Given the description of an element on the screen output the (x, y) to click on. 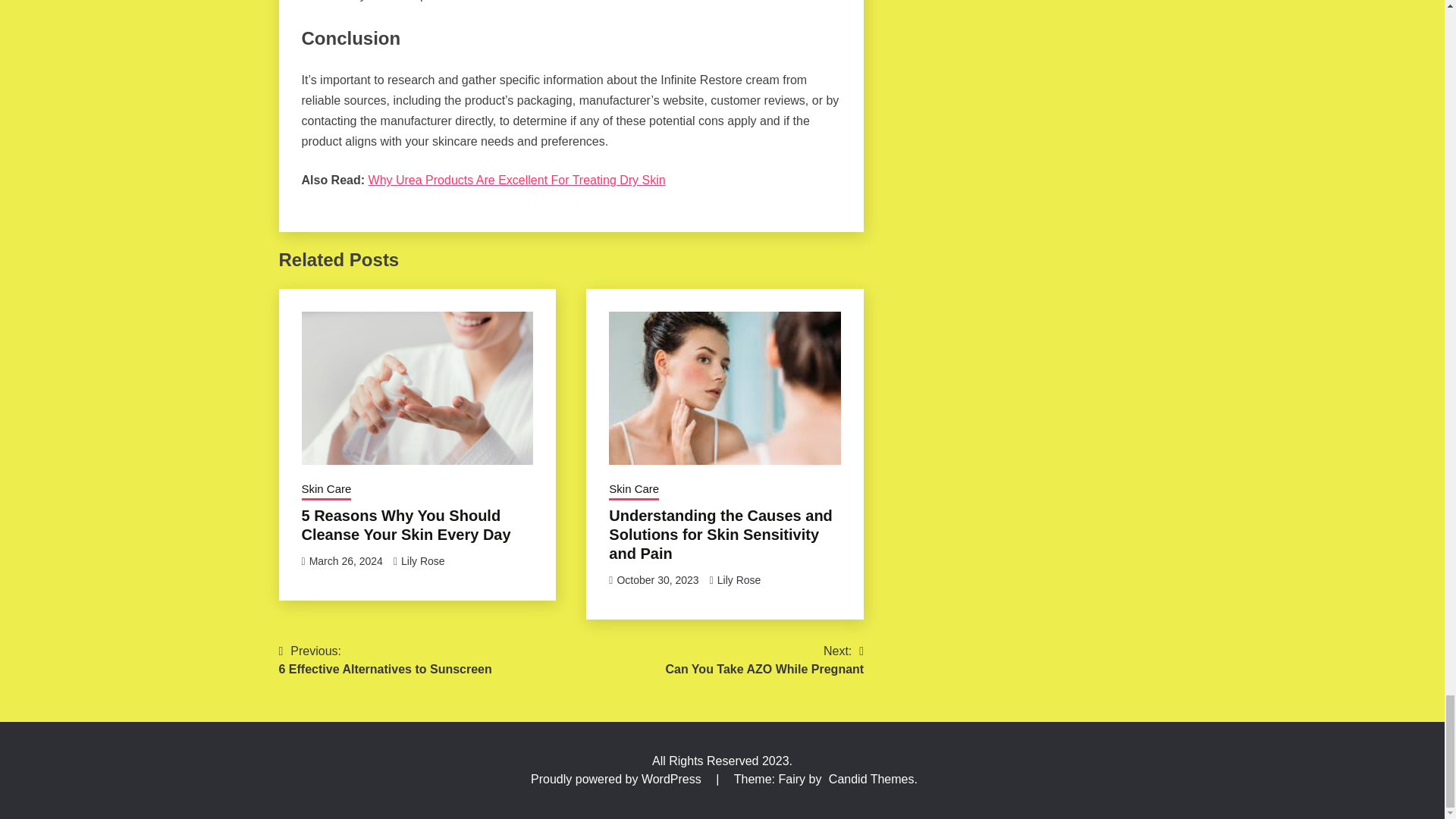
Lily Rose (423, 561)
Skin Care (633, 490)
Why Urea Products Are Excellent For Treating Dry Skin (516, 179)
Skin Care (385, 660)
5 Reasons Why You Should Cleanse Your Skin Every Day (326, 490)
Lily Rose (406, 524)
March 26, 2024 (739, 580)
October 30, 2023 (345, 561)
